Given the description of an element on the screen output the (x, y) to click on. 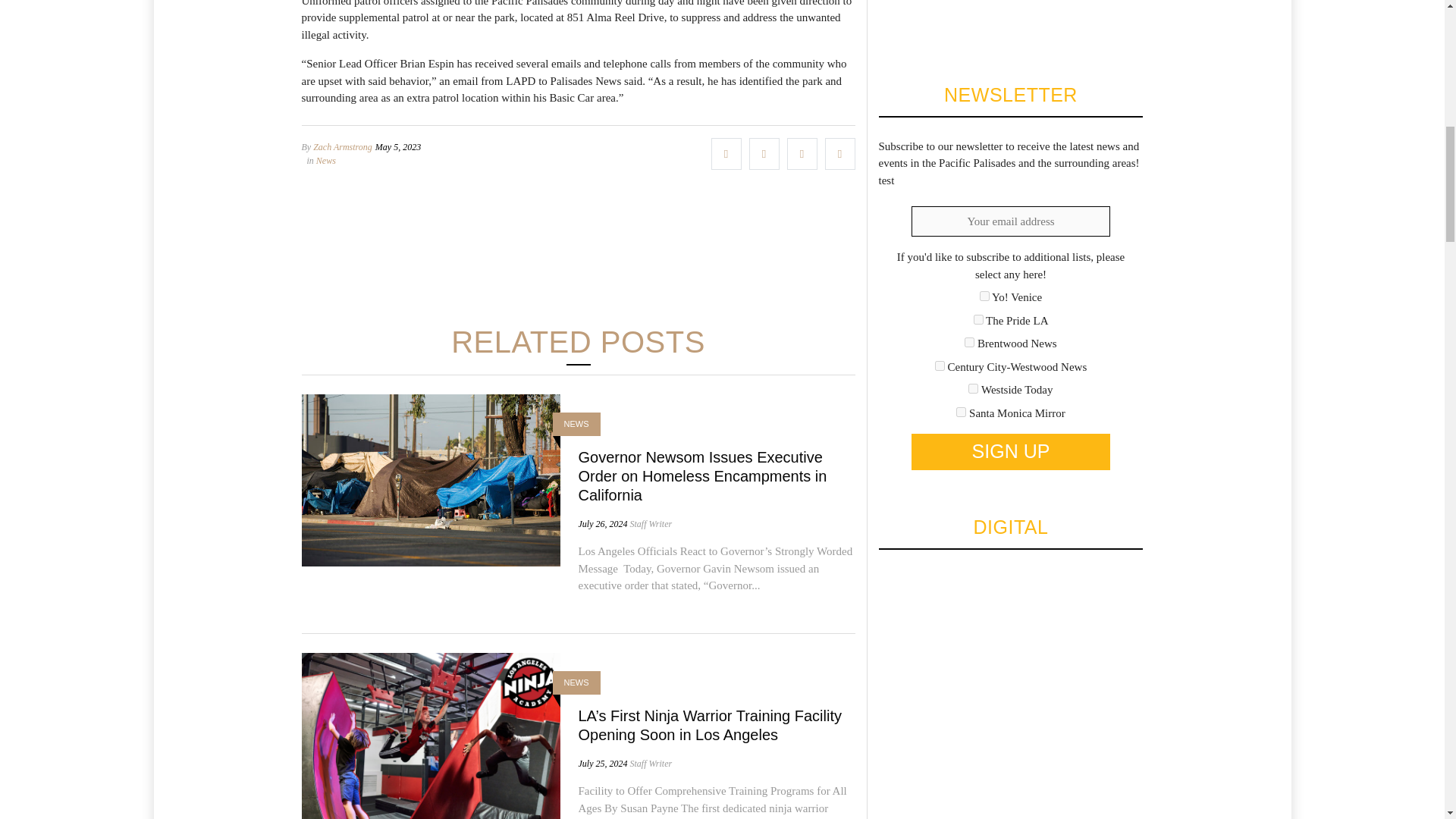
5fac618226 (939, 366)
3rd party ad content (577, 252)
Zach Armstrong (342, 145)
Posts by Zach Armstrong (342, 145)
NEWS (576, 423)
Posts by Staff Writer (649, 763)
33f79e7e4d (979, 319)
News (325, 160)
NEWS (576, 682)
382281a661 (968, 342)
Staff Writer (649, 523)
2c616d28b5 (984, 296)
Sign up (1010, 452)
a3d1b6d535 (973, 388)
